Given the description of an element on the screen output the (x, y) to click on. 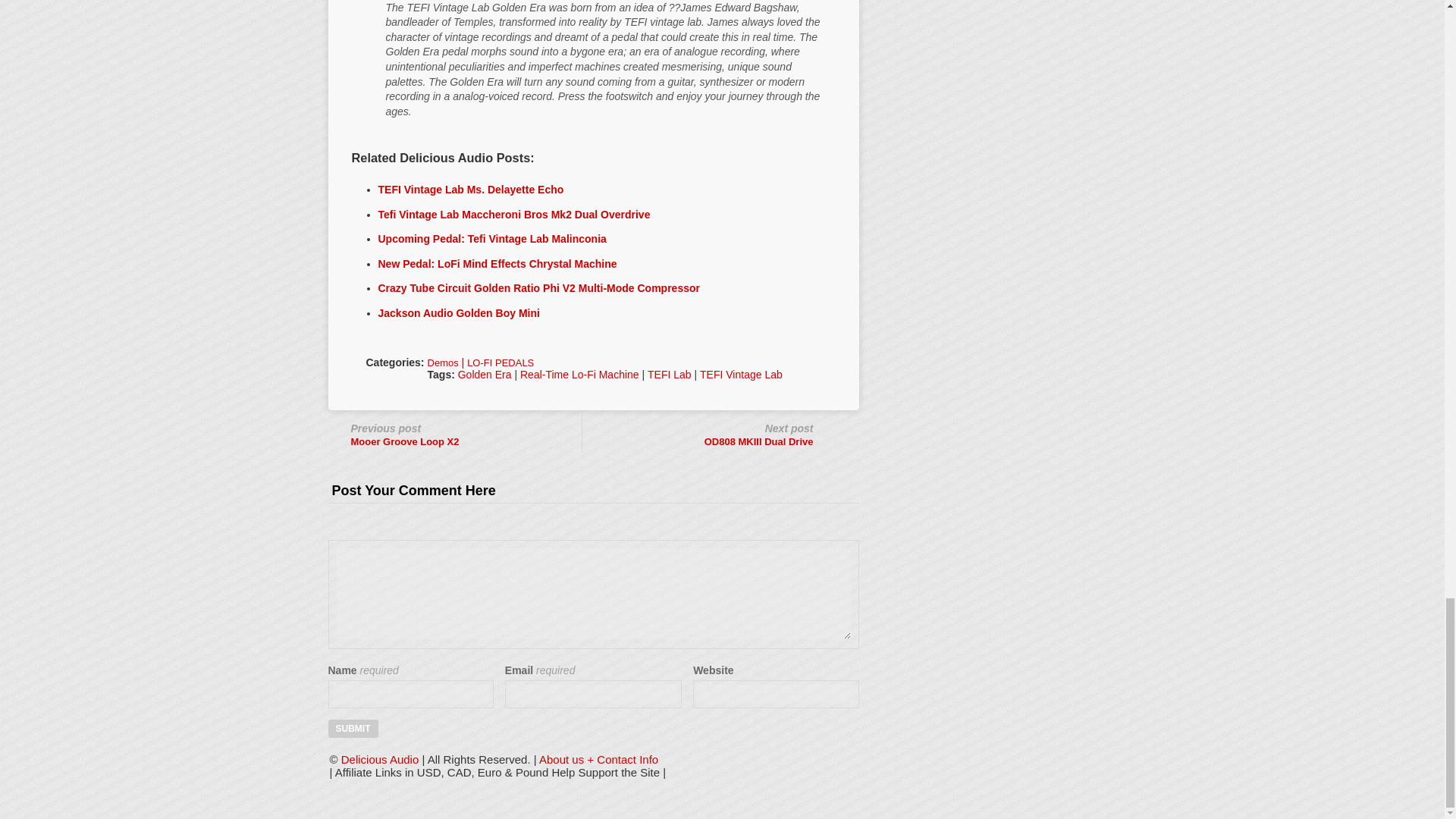
View all posts tagged TEFI Vintage Lab (741, 374)
View all posts tagged TEFI Lab (669, 374)
View all posts tagged Golden Era (485, 374)
View all posts tagged Real-Time Lo-Fi Machine (579, 374)
